Given the description of an element on the screen output the (x, y) to click on. 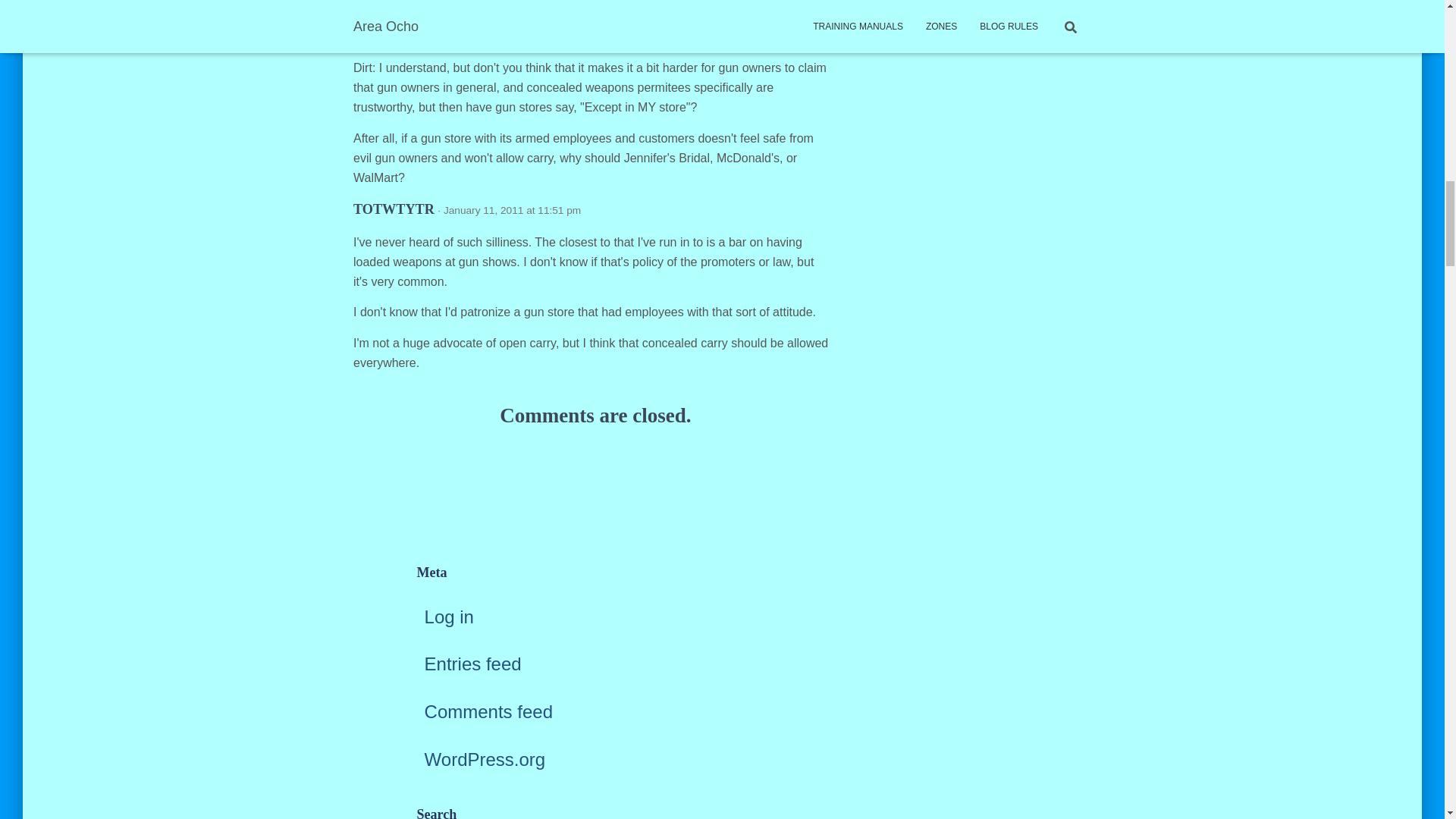
Comments feed (489, 711)
Log in (449, 616)
WordPress.org (485, 759)
Entries feed (473, 663)
